Given the description of an element on the screen output the (x, y) to click on. 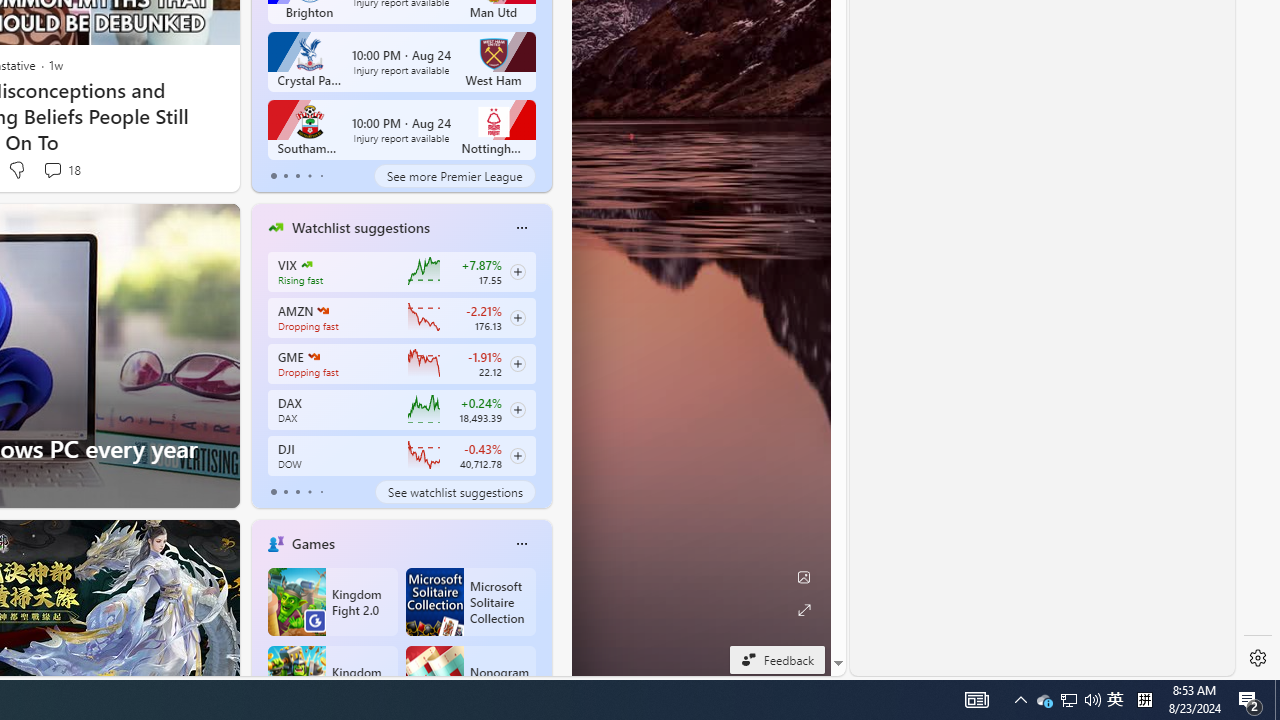
View comments 18 Comment (52, 169)
Expand background (803, 610)
Games (312, 543)
View comments 18 Comment (61, 170)
GAMESTOP CORP. (313, 356)
AMAZON.COM, INC. (322, 310)
Watchlist suggestions (360, 227)
tab-4 (320, 491)
Class: sd-card-game-item-img-inner (433, 679)
Kingdom Fight 2.0 (332, 601)
tab-3 (309, 491)
Feedback (777, 659)
More options (521, 543)
